Given the description of an element on the screen output the (x, y) to click on. 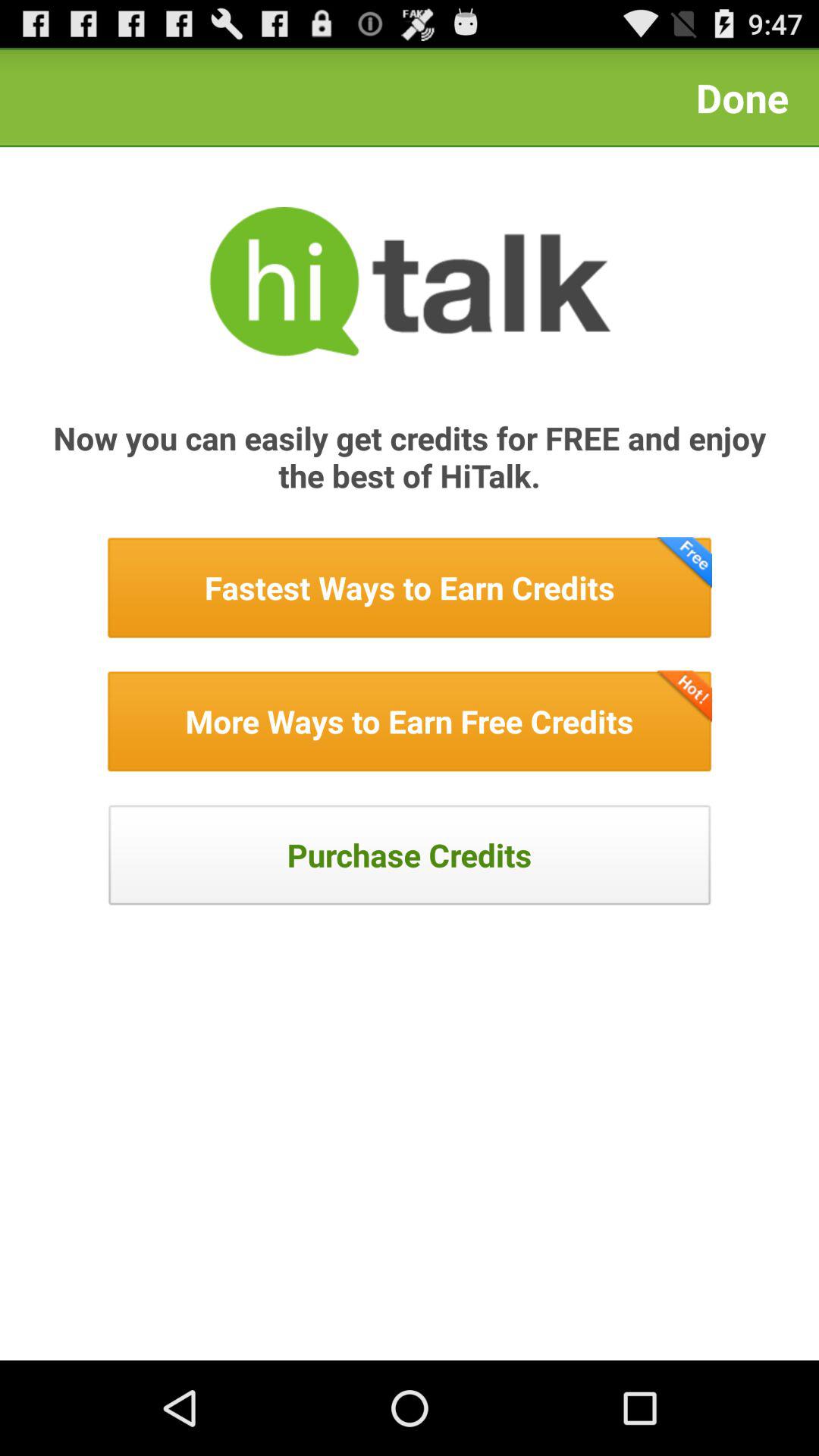
select option (409, 721)
